Given the description of an element on the screen output the (x, y) to click on. 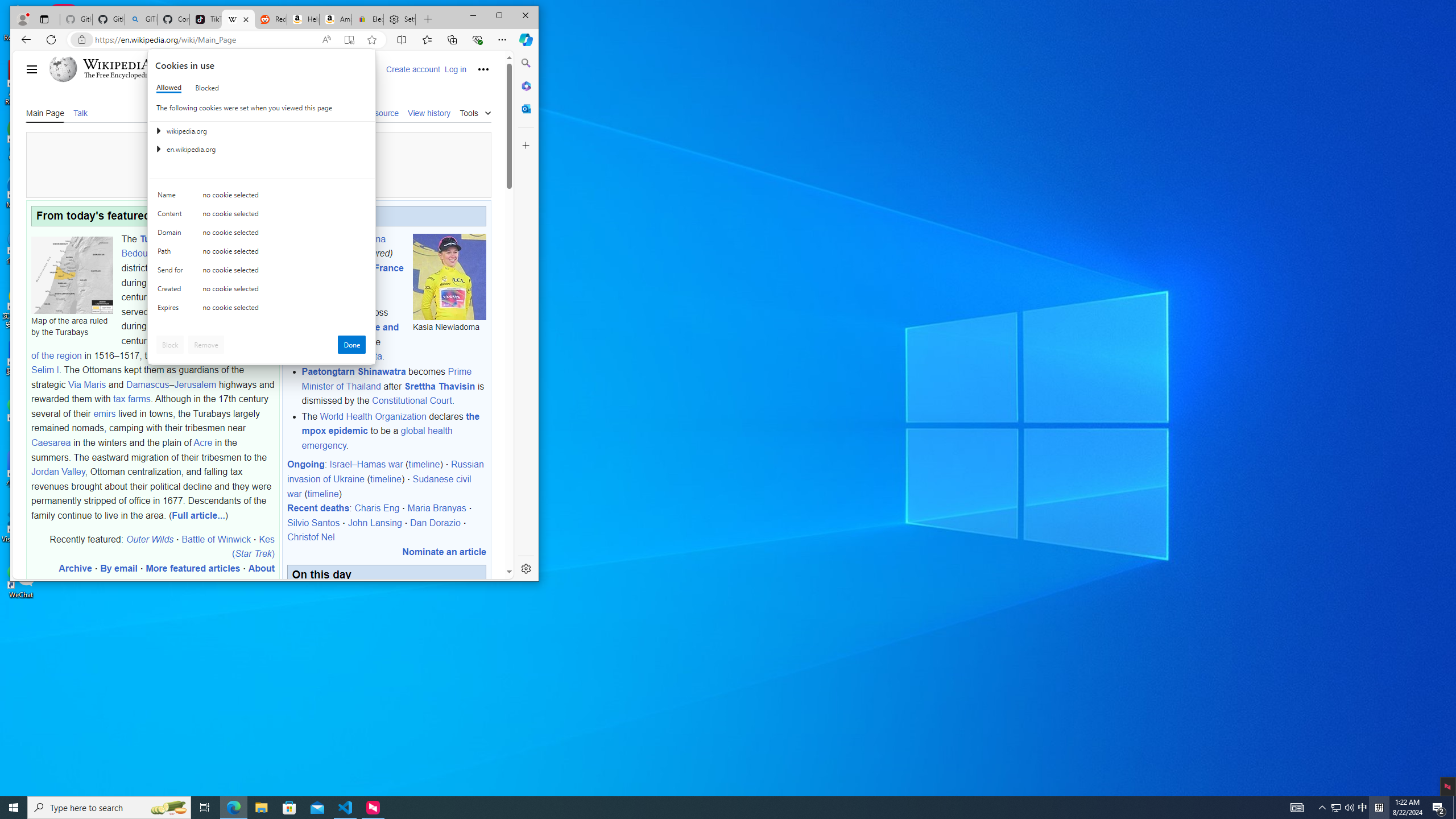
Search highlights icon opens search home window (167, 807)
Q2790: 100% (1349, 807)
Path (172, 253)
Done (351, 344)
Content (172, 216)
Class: c0153 c0157 (261, 309)
